Given the description of an element on the screen output the (x, y) to click on. 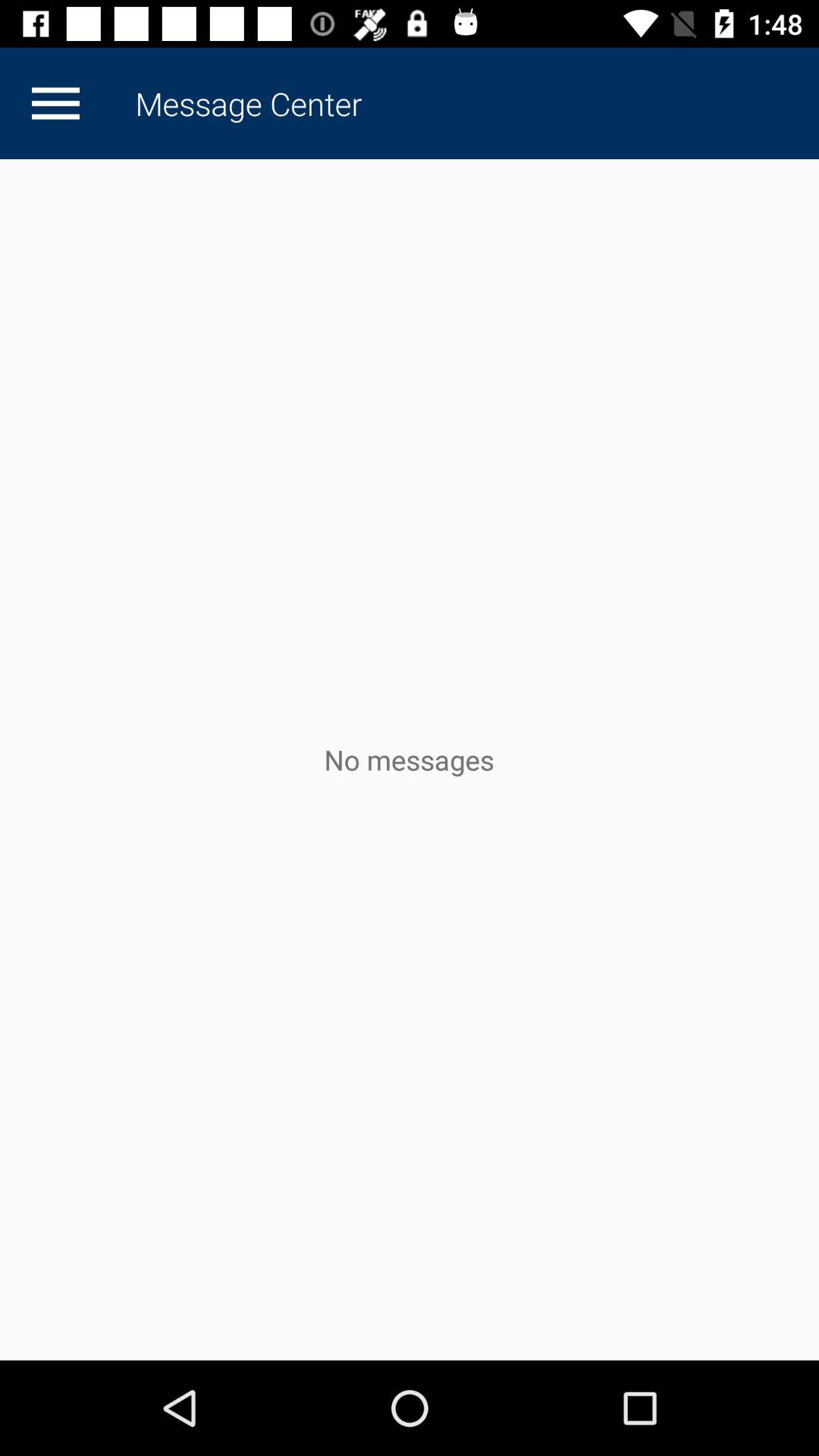
more options (55, 103)
